Given the description of an element on the screen output the (x, y) to click on. 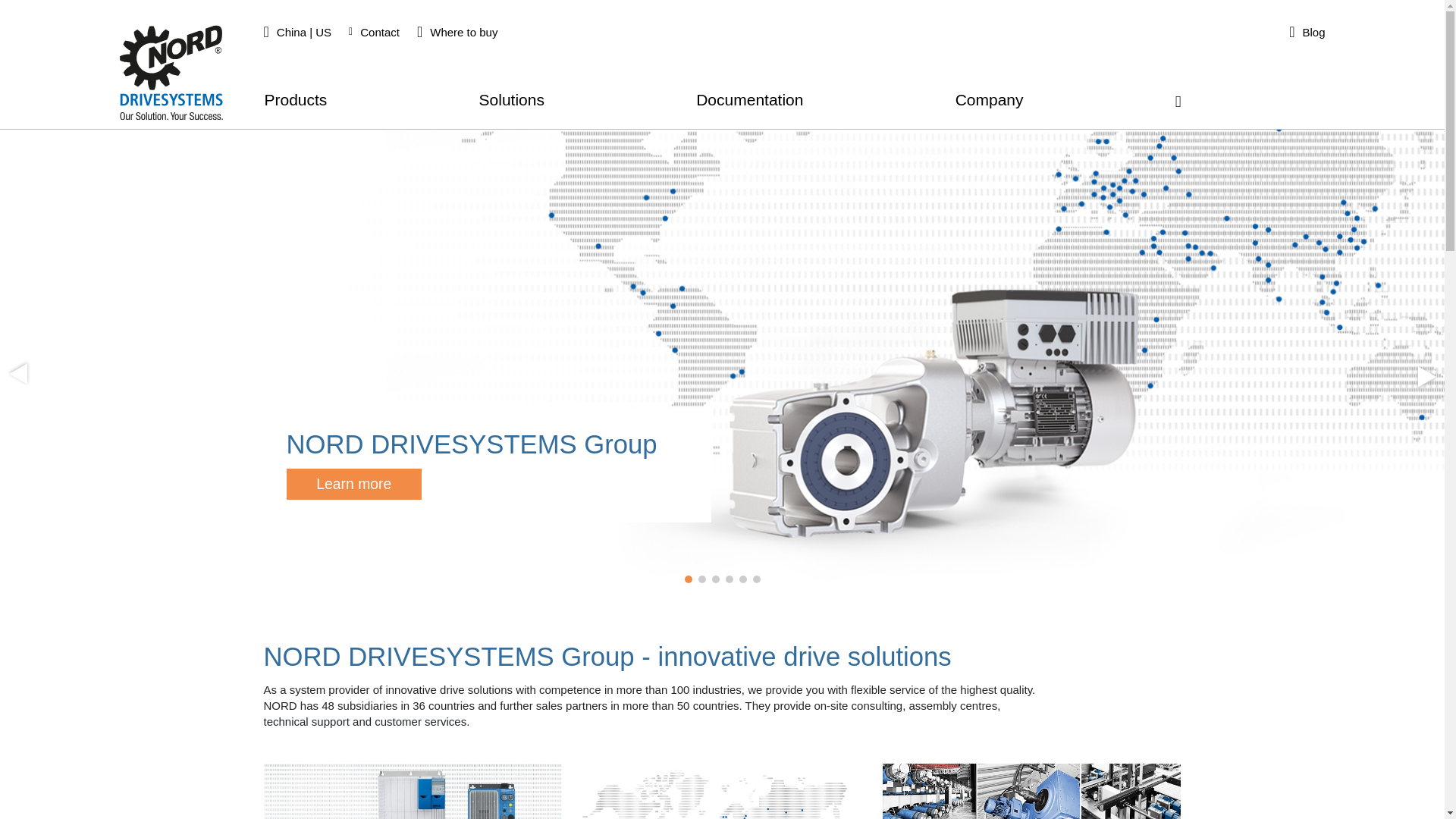
Products (294, 105)
Blog (1309, 32)
NORD Drivesystems (170, 72)
Where to buy (459, 32)
Contact (376, 32)
